Given the description of an element on the screen output the (x, y) to click on. 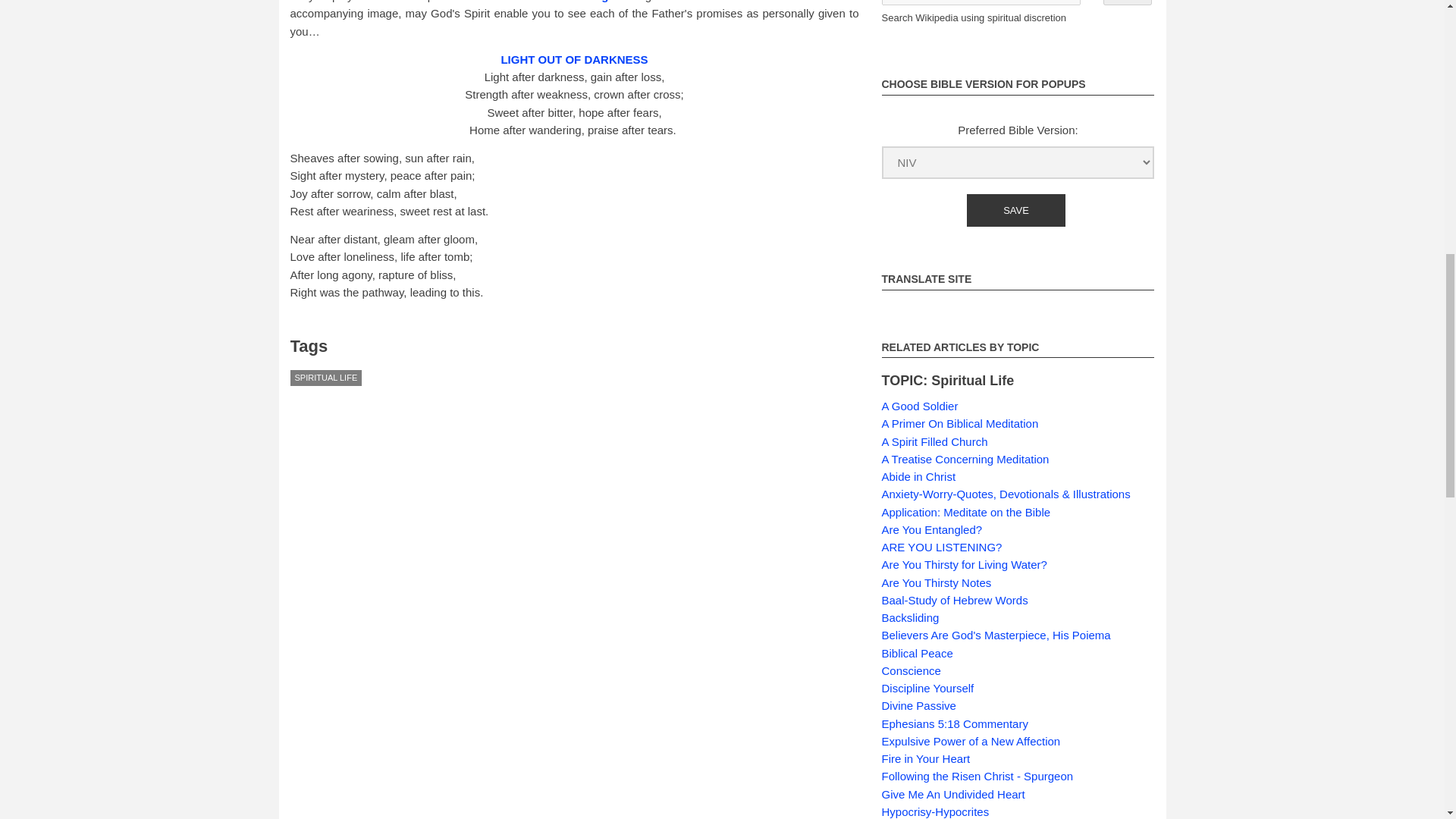
Save (1015, 210)
